Given the description of an element on the screen output the (x, y) to click on. 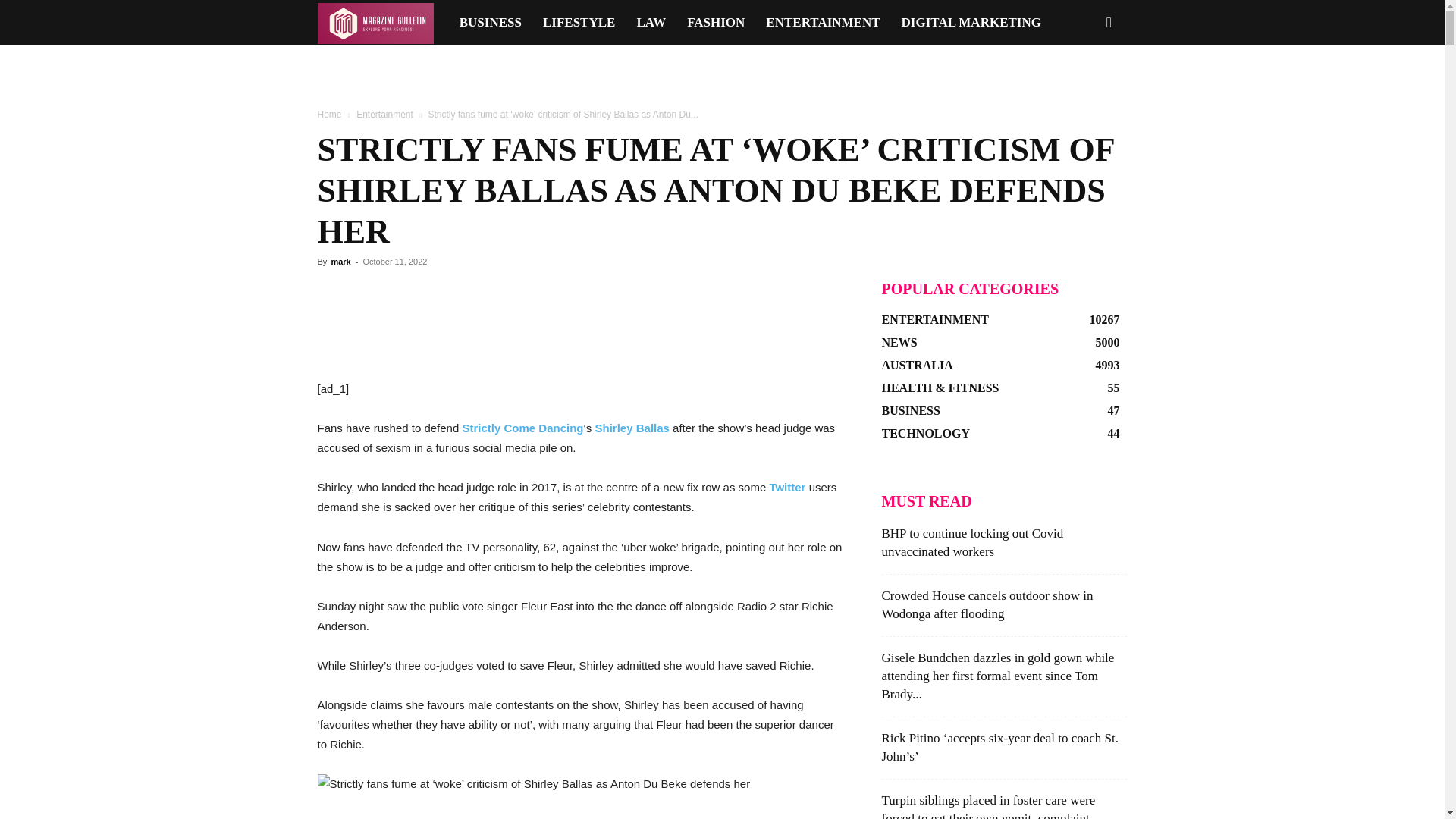
LAW (651, 22)
Entertainment (384, 113)
Shirley Ballas (632, 427)
Search (1085, 87)
Magazine Bulletin (382, 22)
Magazinebulletin (374, 22)
Strictly Come Dancing (522, 427)
ENTERTAINMENT (822, 22)
Home (328, 113)
View all posts in Entertainment (384, 113)
